Given the description of an element on the screen output the (x, y) to click on. 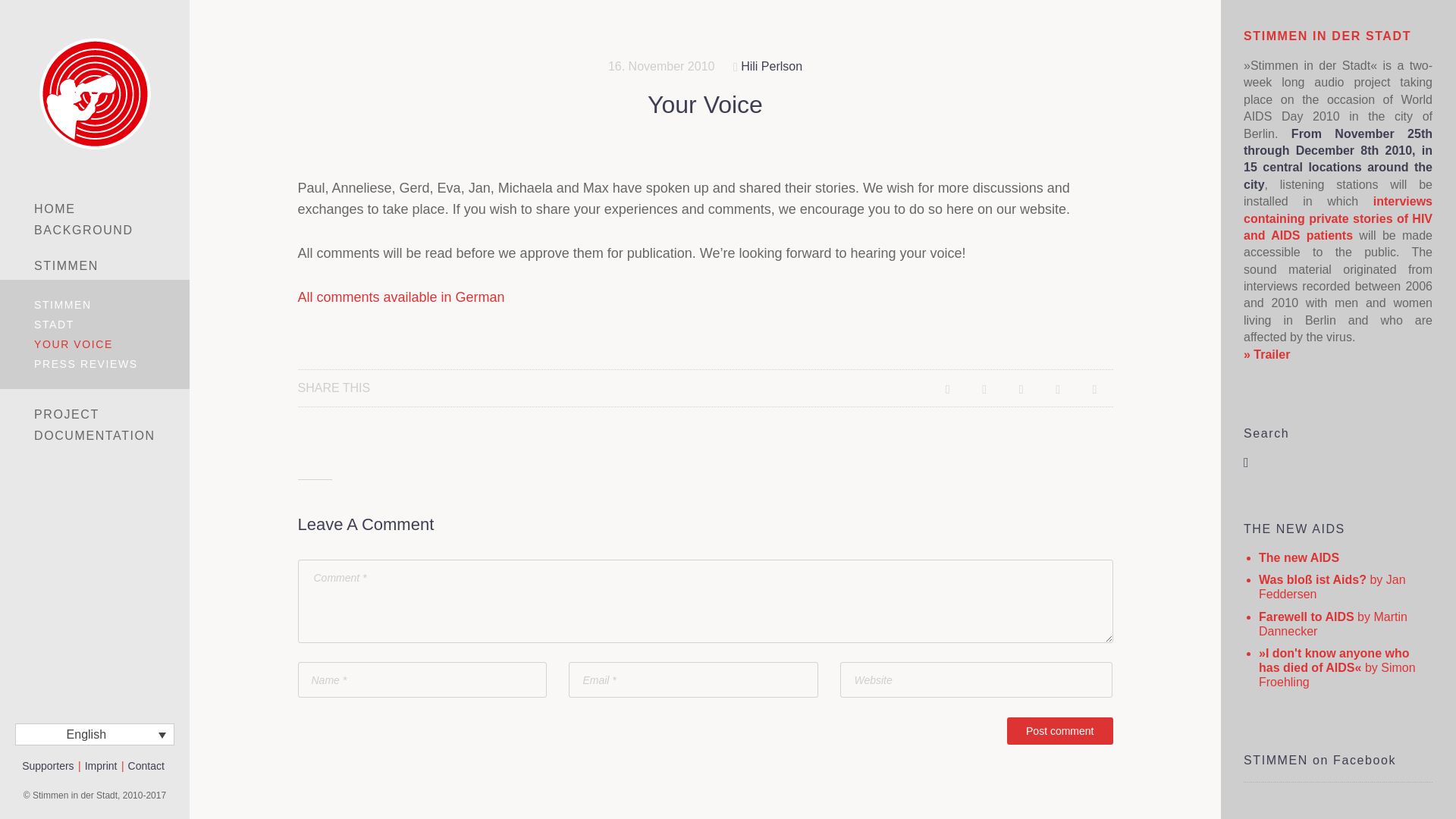
Hili Perlson (771, 65)
BACKGROUND (94, 230)
HOME (94, 209)
Contact (146, 766)
English (94, 734)
All comments available in German (400, 296)
Twitter (1057, 388)
Stimmen in der Stadt (94, 93)
STADT (94, 324)
Supporters (47, 766)
